Given the description of an element on the screen output the (x, y) to click on. 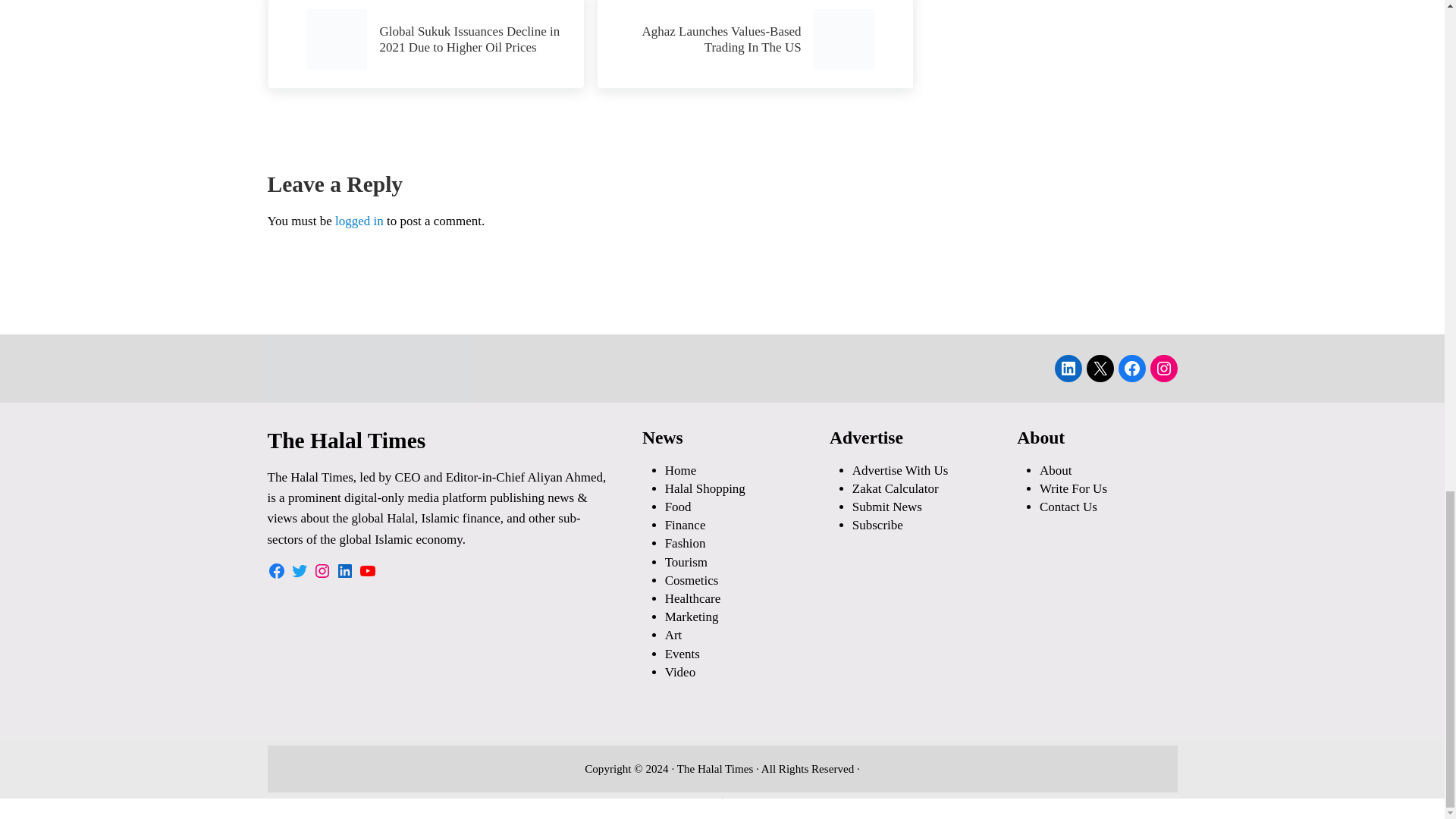
logged in (359, 220)
X (1099, 368)
LinkedIn (753, 44)
